Given the description of an element on the screen output the (x, y) to click on. 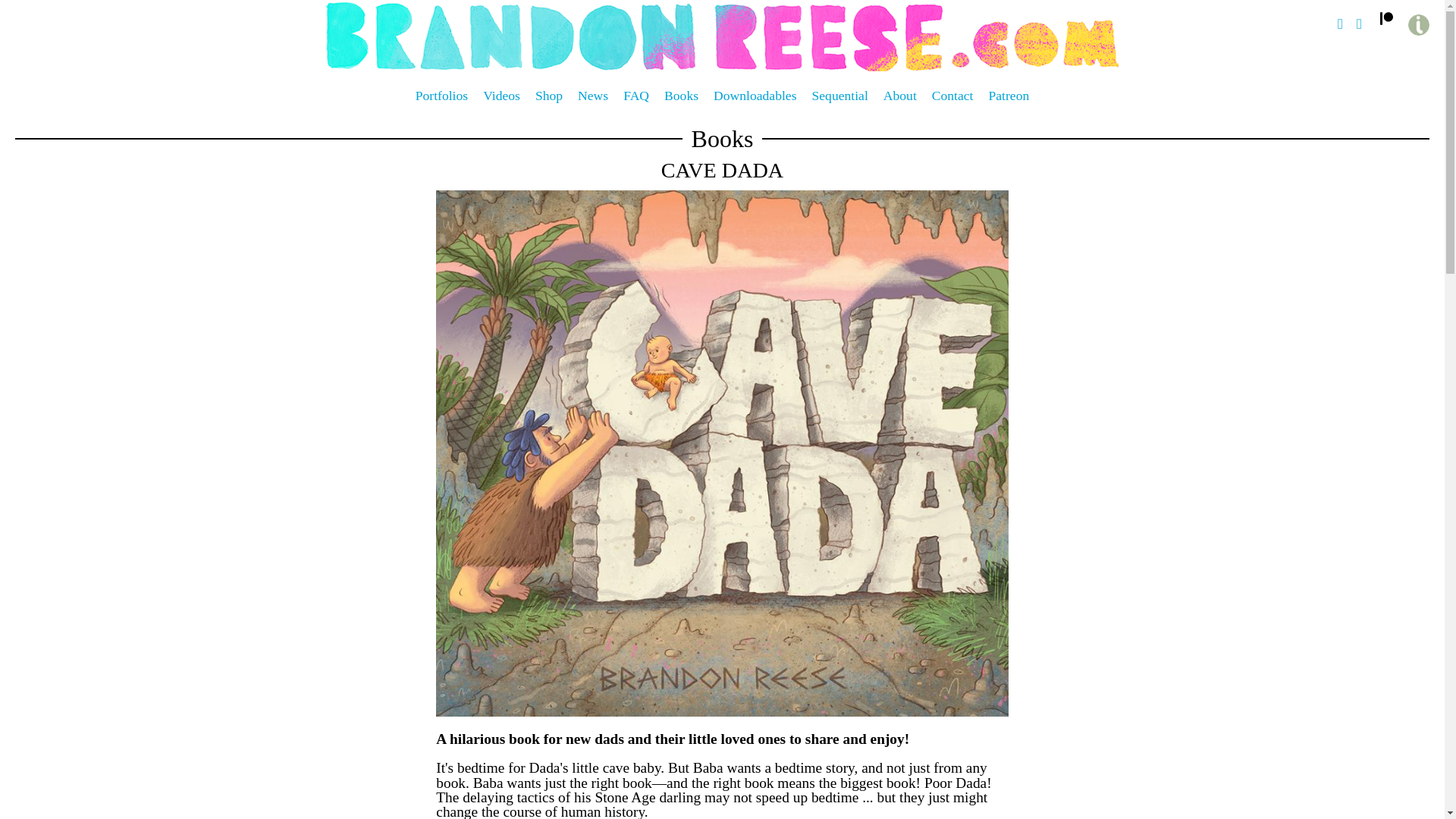
Contact (952, 95)
Videos (501, 95)
Sequential (839, 95)
Downloadables (754, 95)
News (593, 95)
Patreon (1008, 95)
Shop (548, 95)
Portfolios (440, 95)
Books (680, 95)
FAQ (636, 95)
About (900, 95)
